Given the description of an element on the screen output the (x, y) to click on. 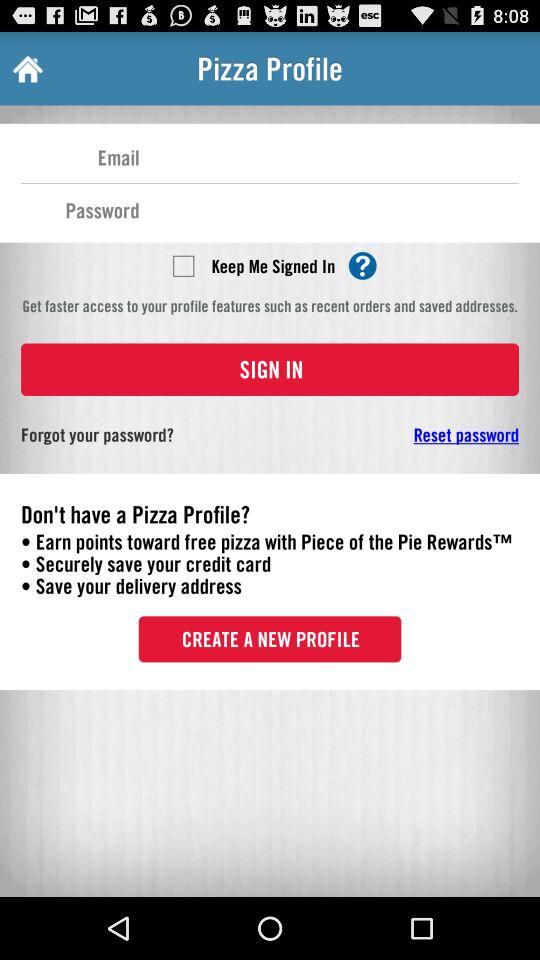
stay signed in checkbox (183, 265)
